Given the description of an element on the screen output the (x, y) to click on. 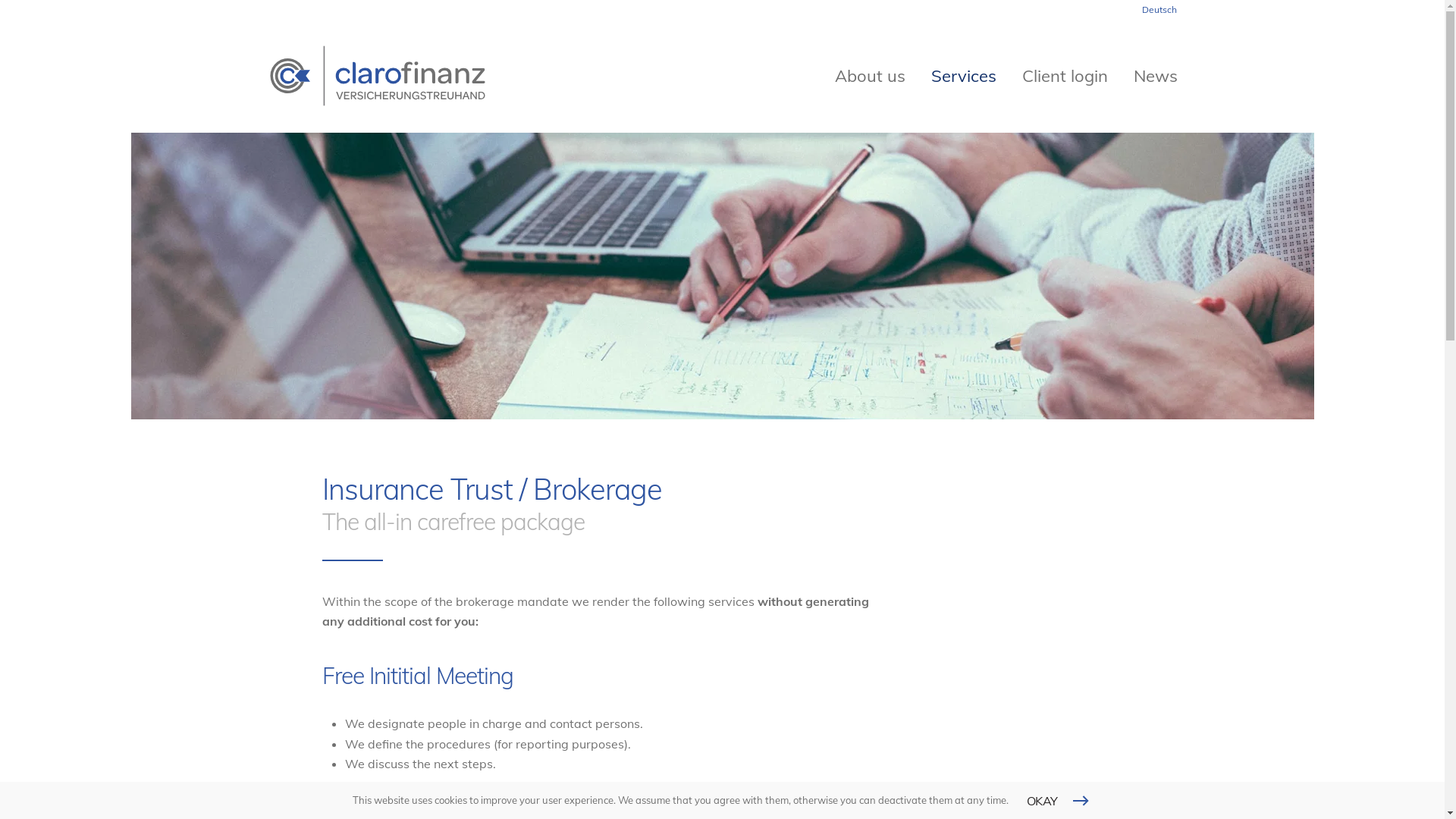
Deutsch Element type: text (1159, 9)
Services Element type: text (963, 75)
OKAY Element type: text (1059, 800)
News Element type: text (1154, 75)
Client login Element type: text (1064, 75)
About us Element type: text (869, 75)
